Given the description of an element on the screen output the (x, y) to click on. 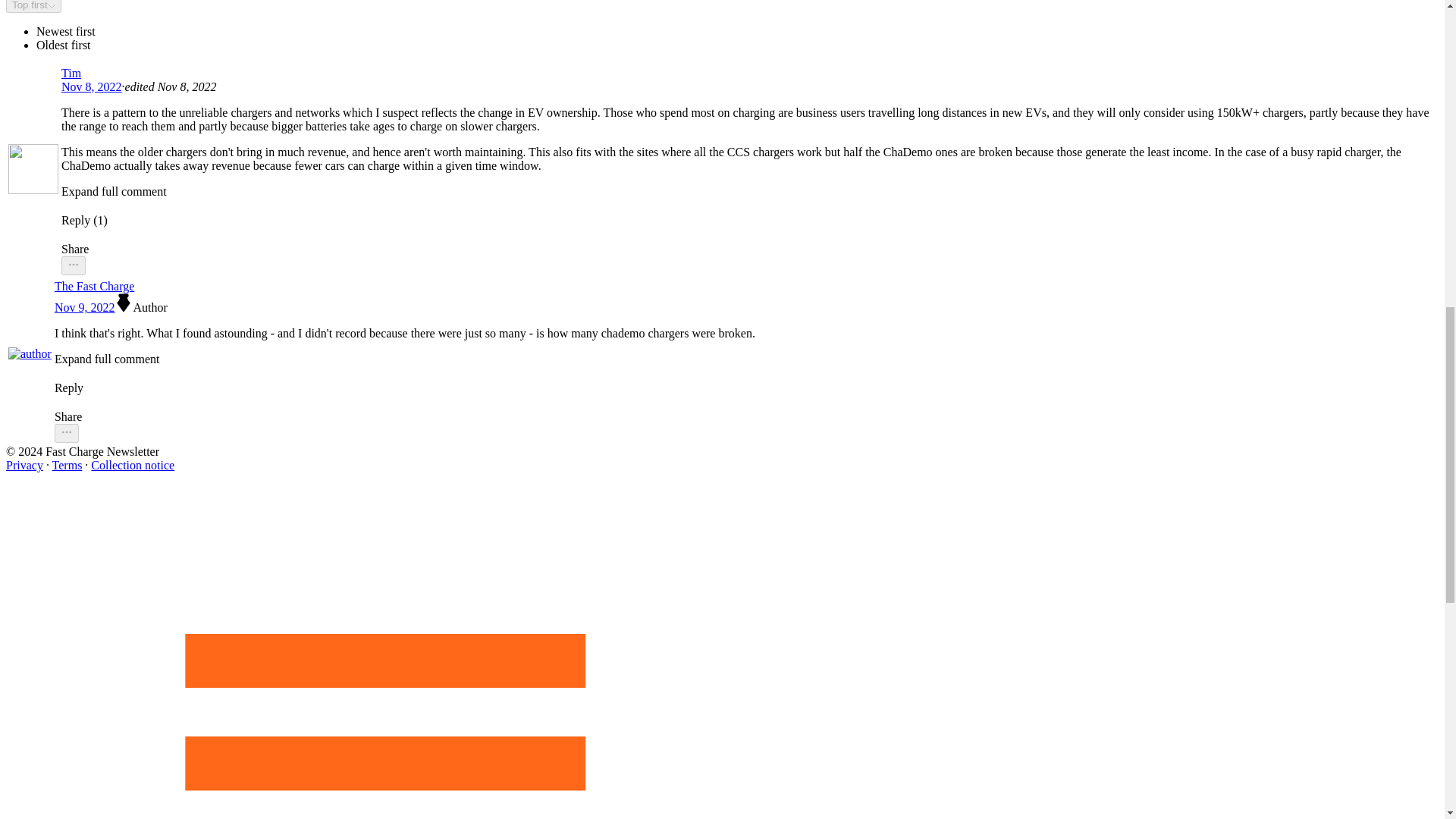
Share (405, 417)
Oldest first (63, 44)
The Fast Charge (405, 286)
Nov 8, 2022 (91, 86)
Top first (33, 6)
Reply (405, 380)
Privacy (24, 464)
Nov 9, 2022 (85, 307)
Newest first (66, 31)
